Given the description of an element on the screen output the (x, y) to click on. 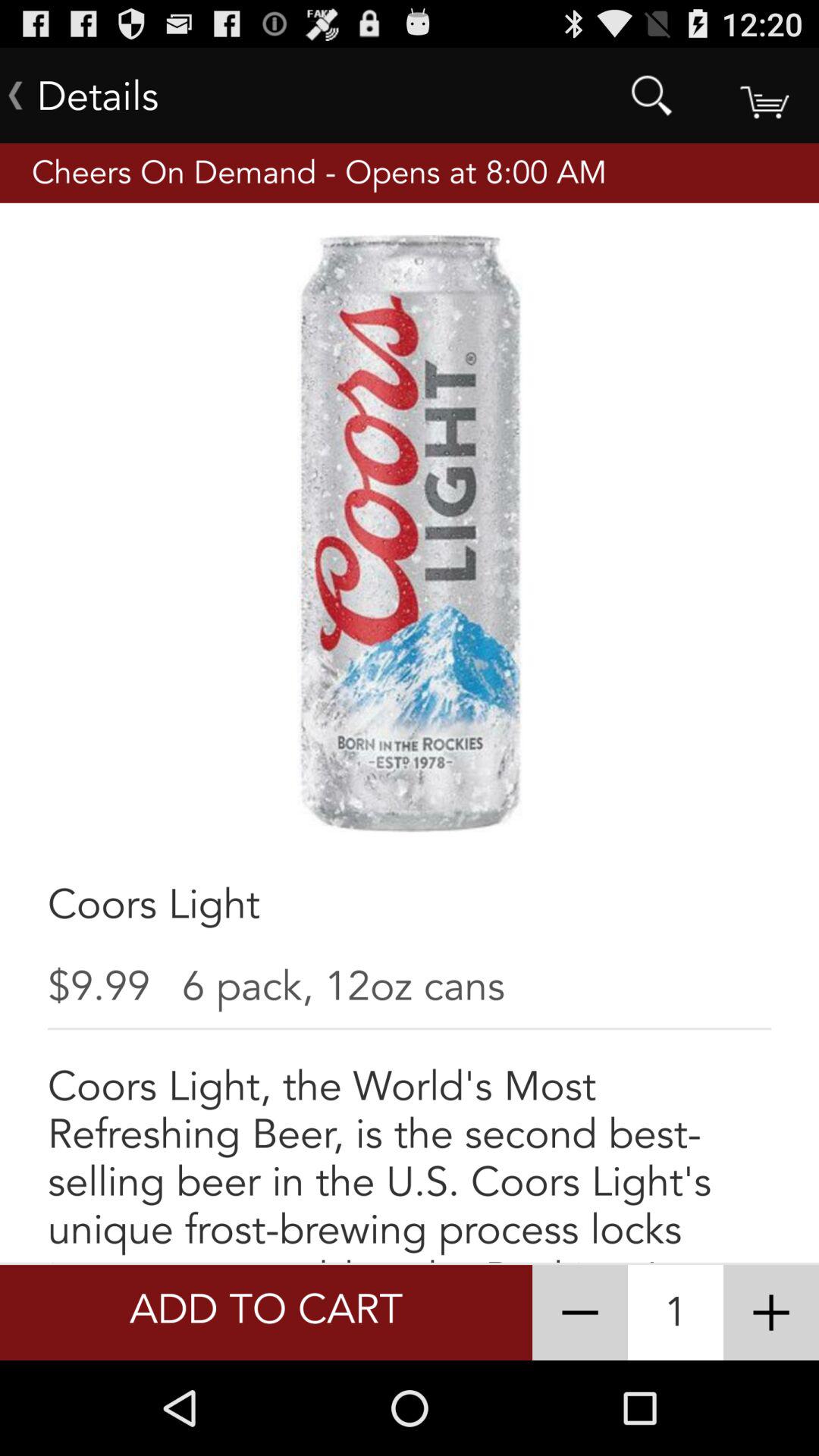
jump until the add to cart (266, 1312)
